Given the description of an element on the screen output the (x, y) to click on. 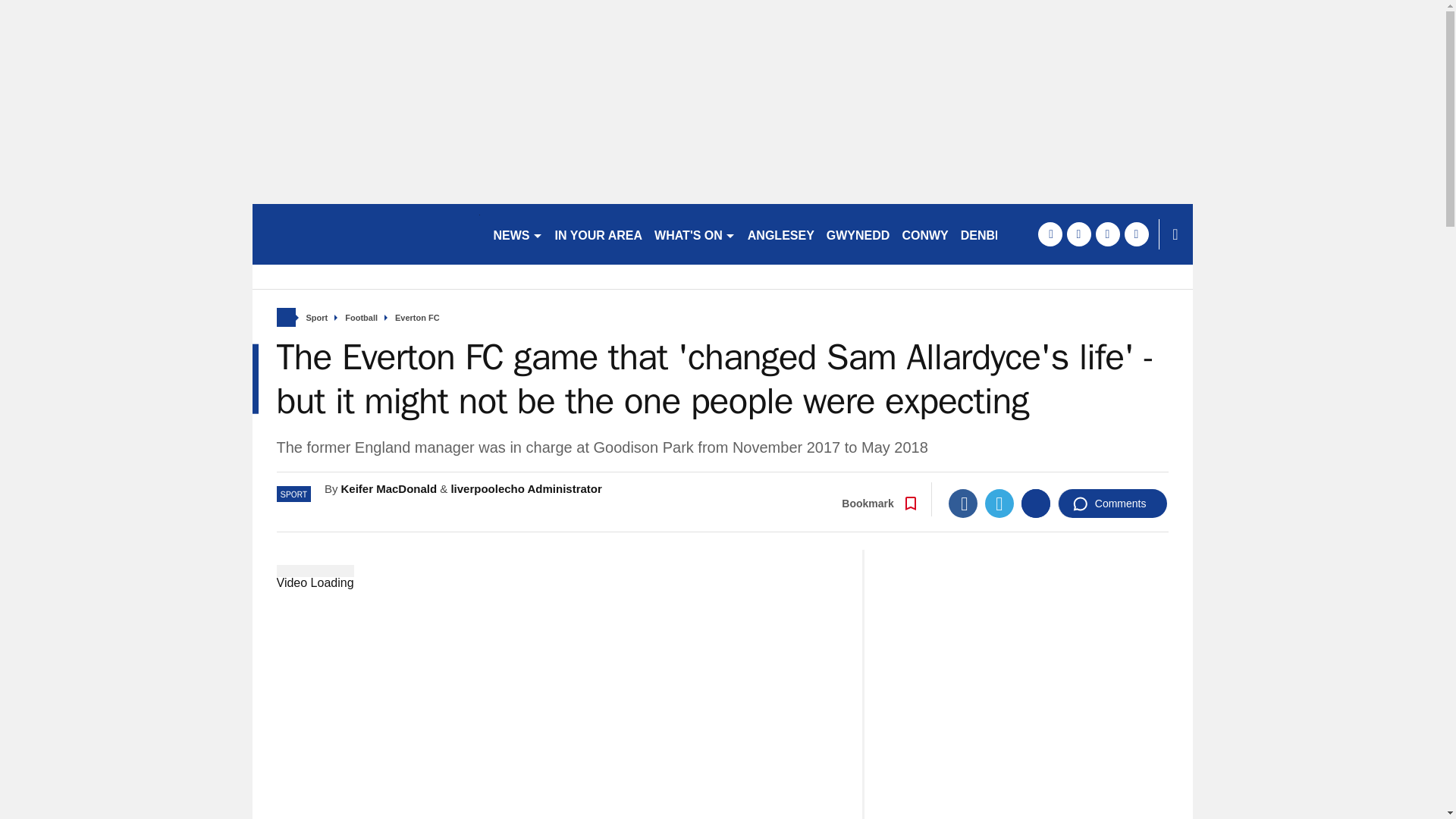
IN YOUR AREA (598, 233)
Twitter (999, 502)
GWYNEDD (858, 233)
Comments (1112, 502)
ANGLESEY (781, 233)
DENBIGHSHIRE (1007, 233)
NEWS (517, 233)
pinterest (1106, 233)
northwales (365, 233)
Facebook (962, 502)
